Given the description of an element on the screen output the (x, y) to click on. 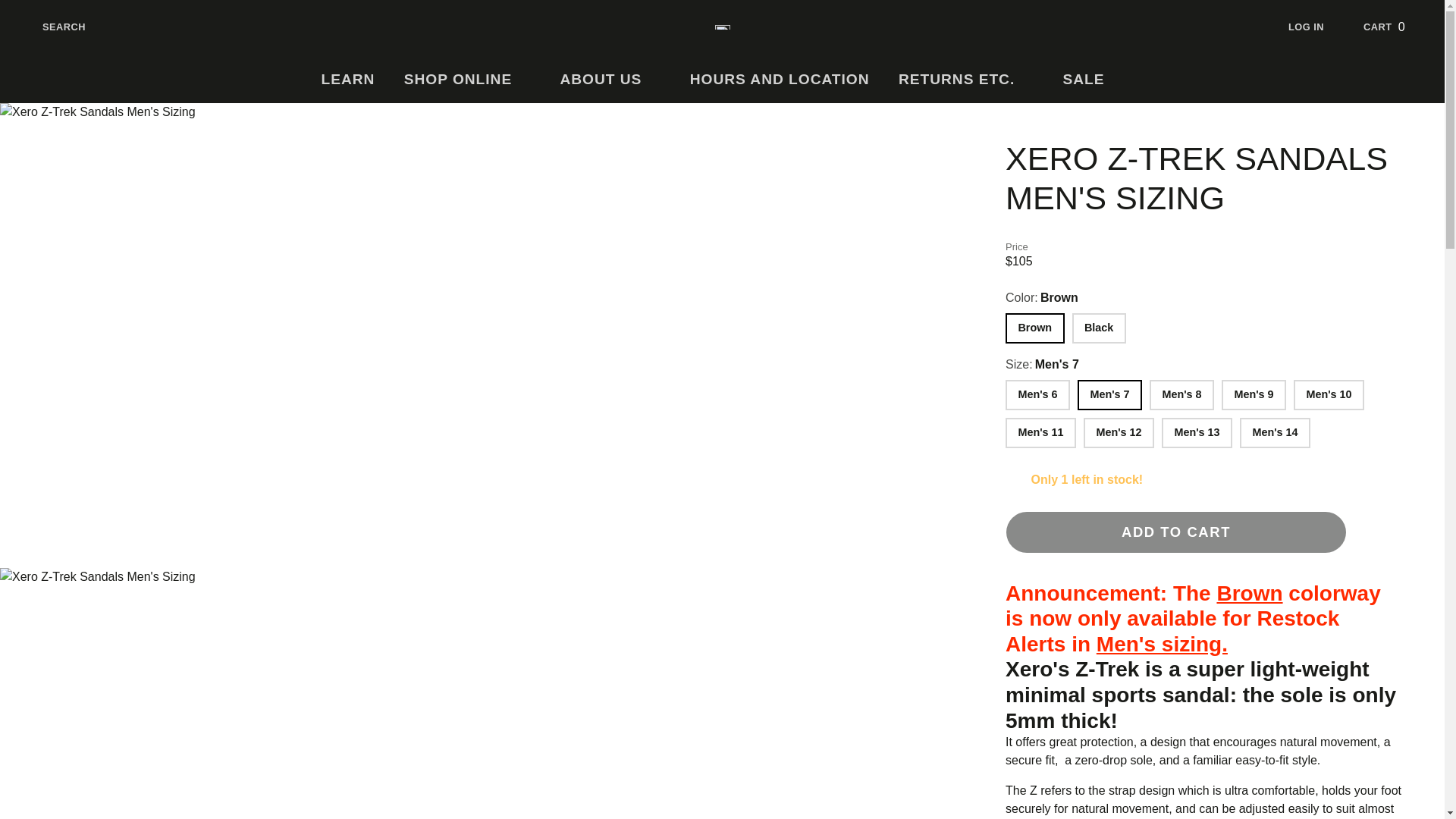
SHOP ONLINE (468, 79)
LOG IN (1318, 27)
Men's 11 (1394, 27)
Men's 12 (965, 79)
SEARCH (779, 79)
Men's 14 (51, 27)
